Given the description of an element on the screen output the (x, y) to click on. 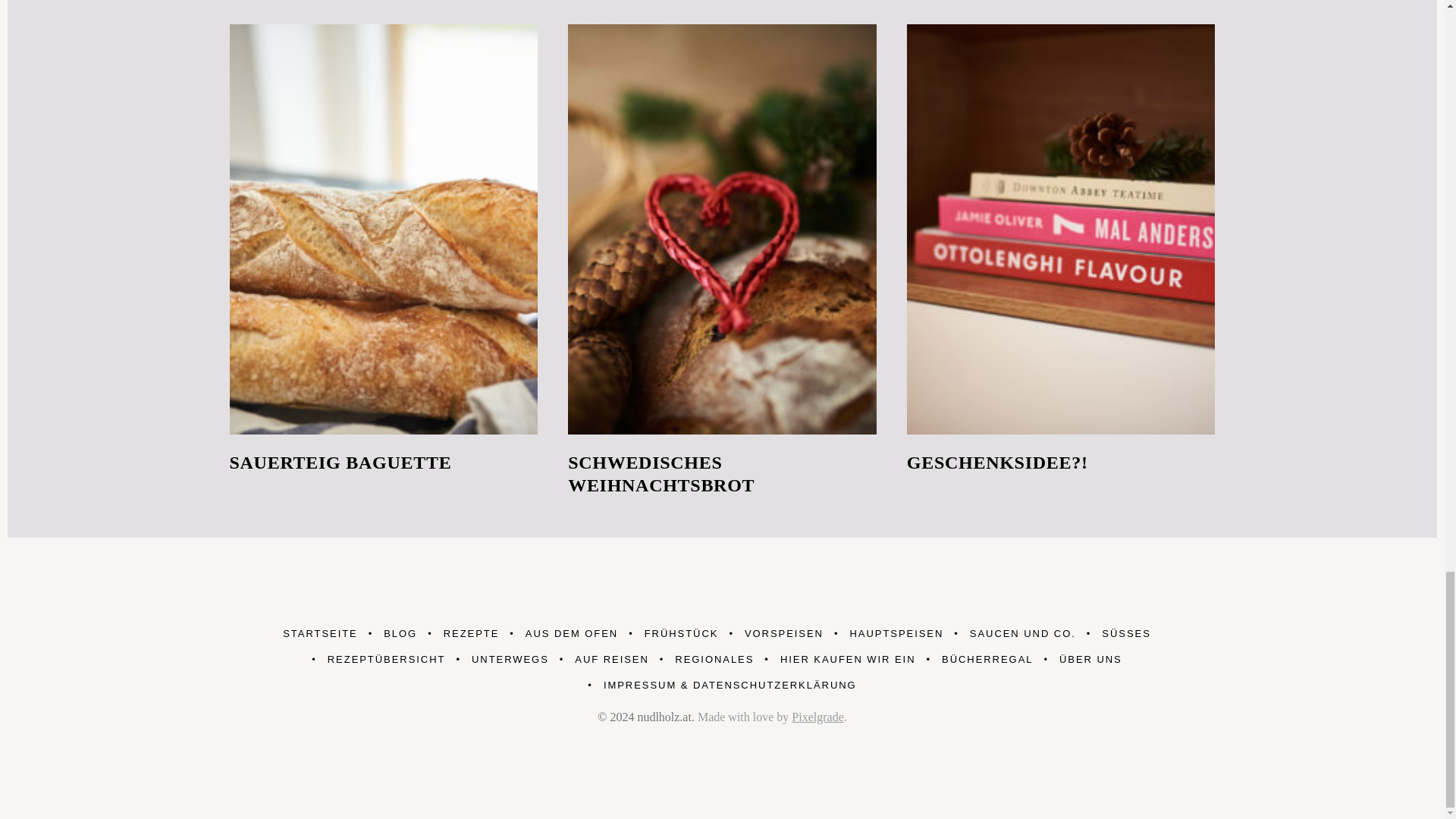
STARTSEITE (319, 633)
